Given the description of an element on the screen output the (x, y) to click on. 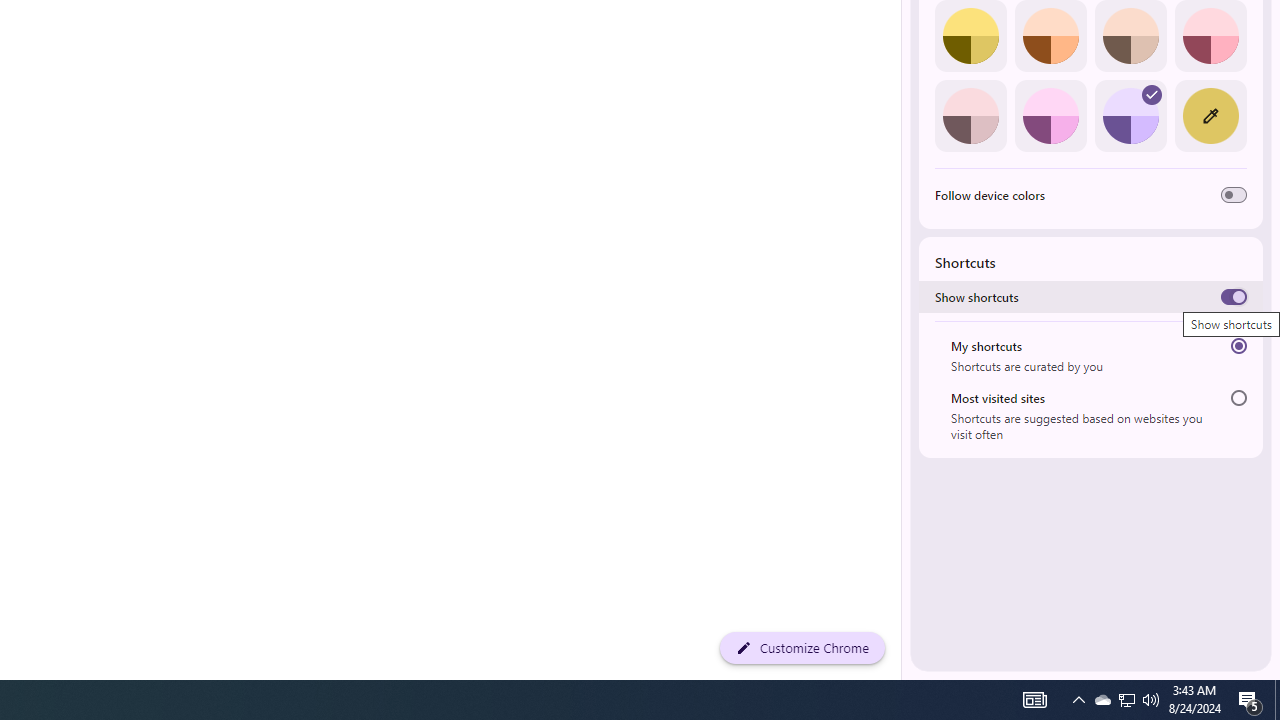
Side Panel Resize Handle (905, 39)
